Given the description of an element on the screen output the (x, y) to click on. 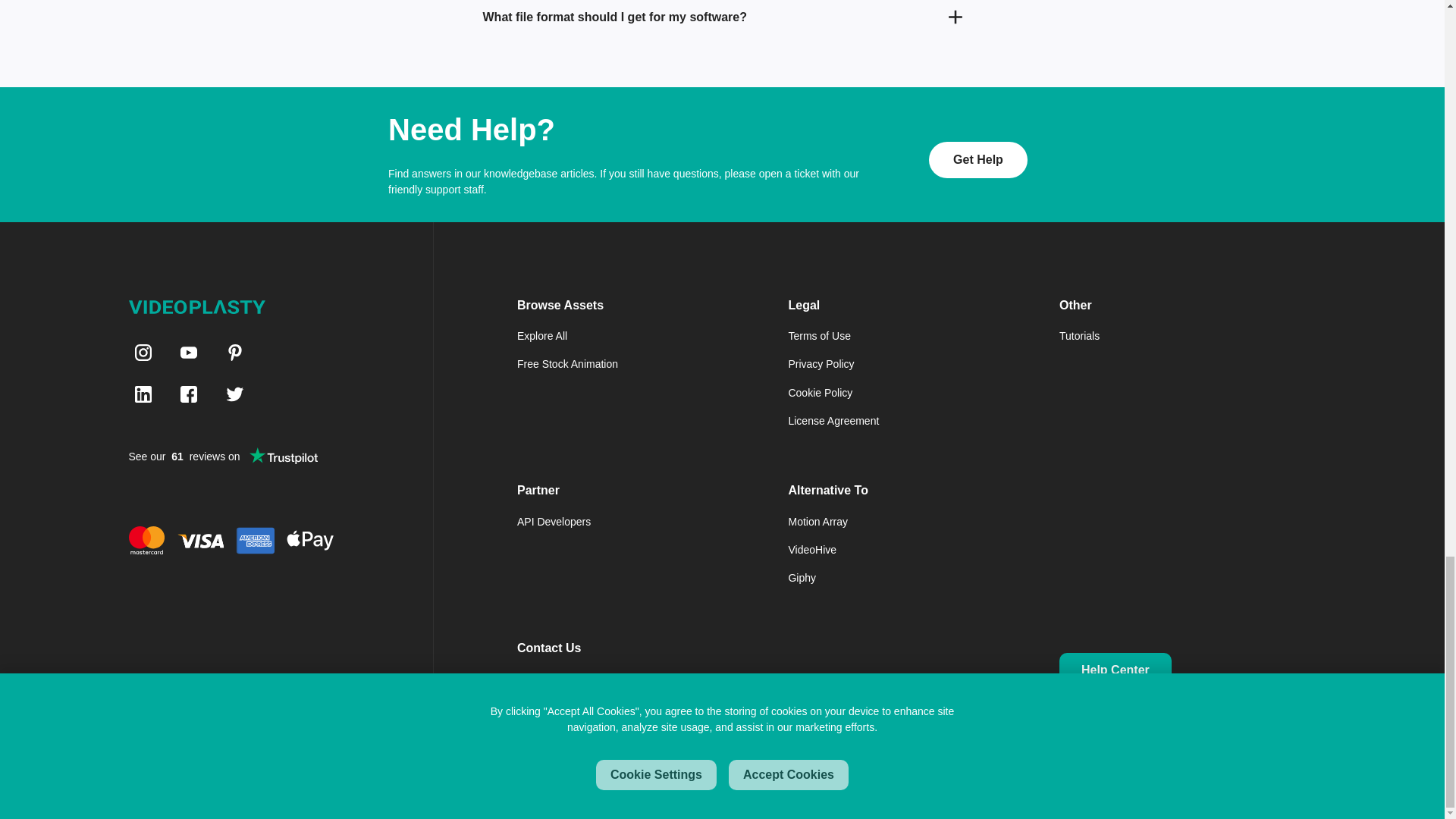
Videoplasty (196, 306)
